Given the description of an element on the screen output the (x, y) to click on. 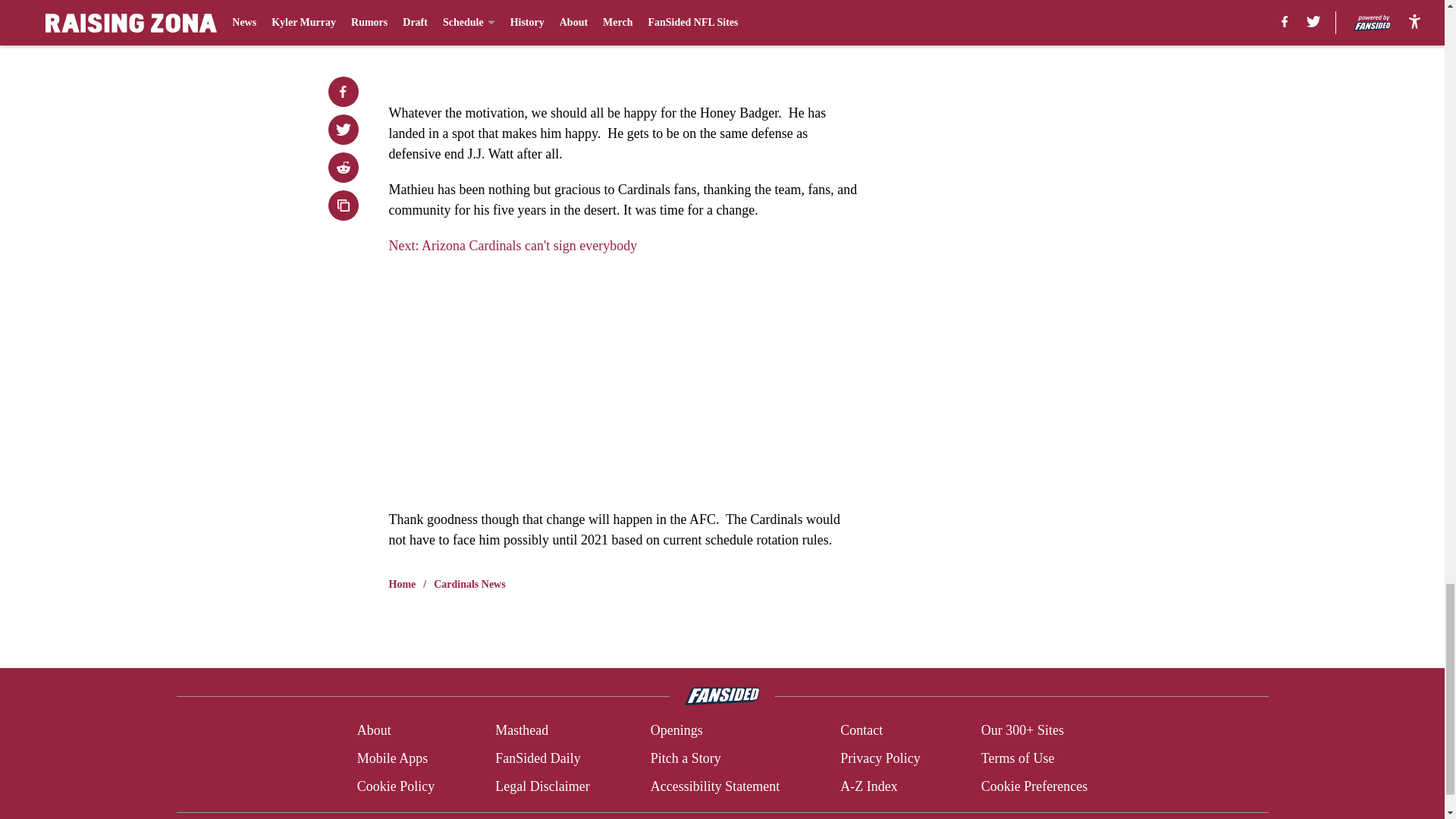
Terms of Use (1017, 758)
Pitch a Story (685, 758)
Cardinals News (469, 584)
Cookie Policy (395, 786)
Contact (861, 730)
Privacy Policy (880, 758)
About (373, 730)
FanSided Daily (537, 758)
Masthead (521, 730)
Legal Disclaimer (542, 786)
Openings (676, 730)
Accessibility Statement (714, 786)
Mobile Apps (392, 758)
Next: Arizona Cardinals can't sign everybody (512, 245)
Home (401, 584)
